Given the description of an element on the screen output the (x, y) to click on. 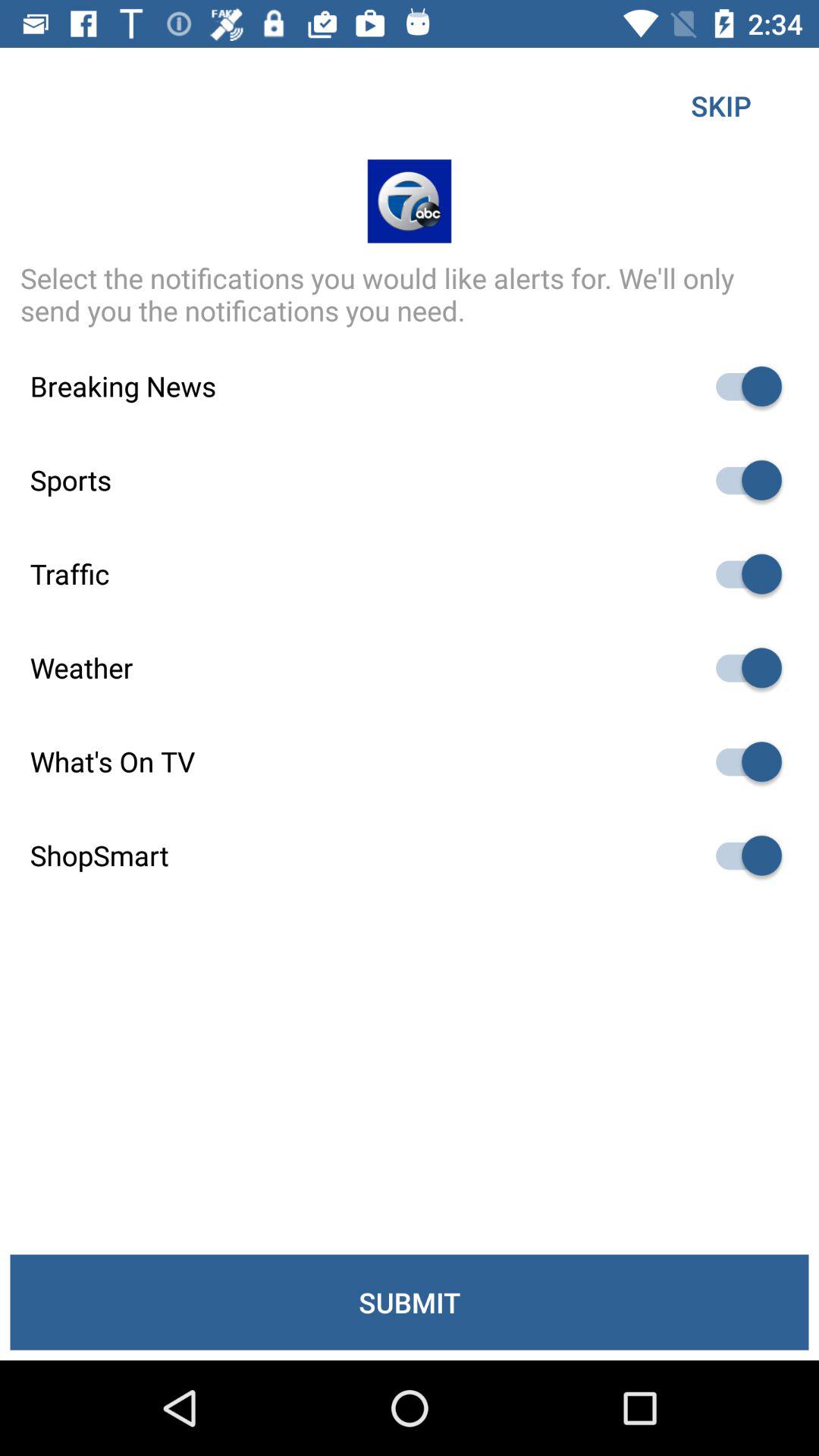
press submit (409, 1302)
